Given the description of an element on the screen output the (x, y) to click on. 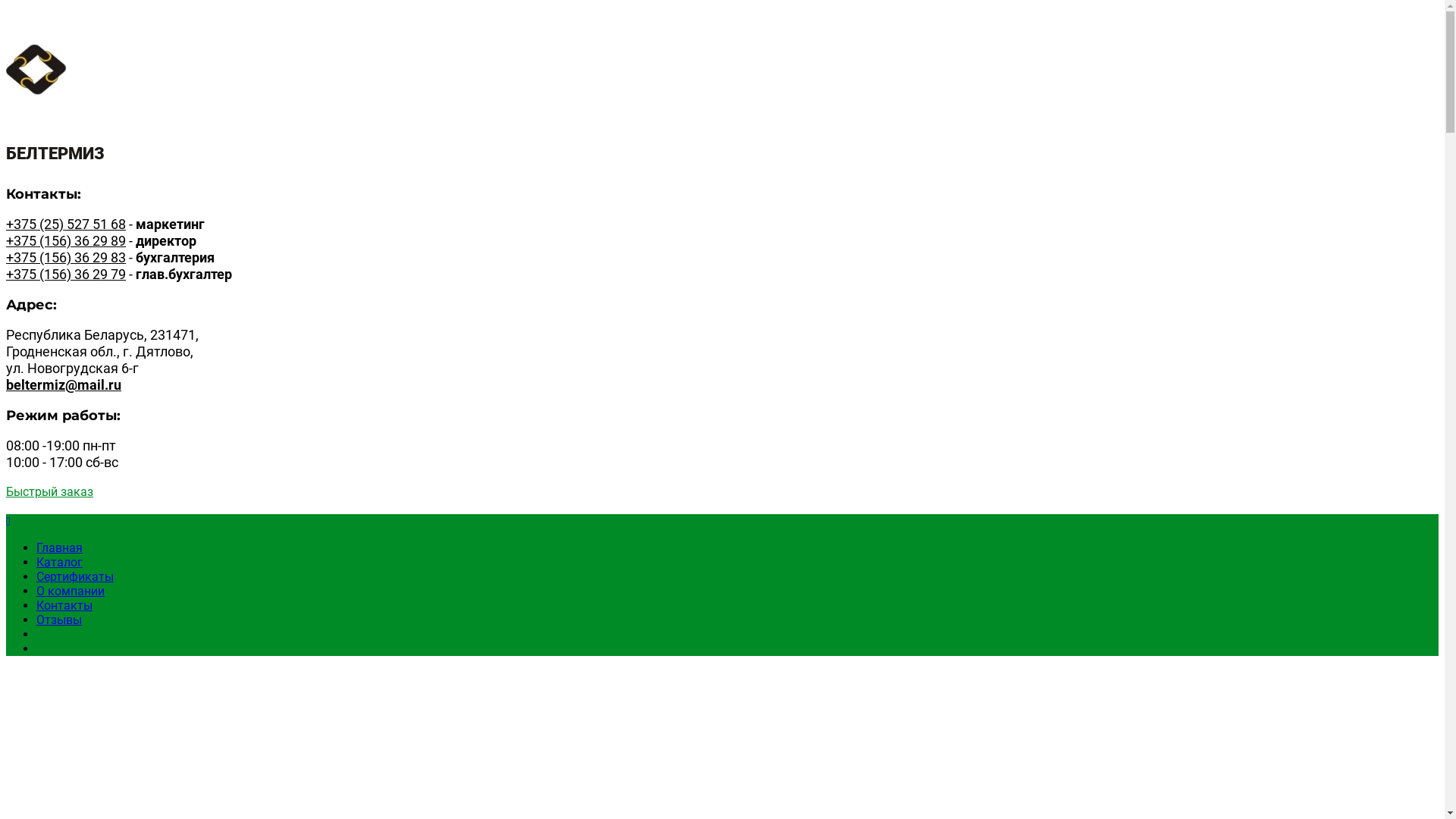
+375 (156) 36 29 79 Element type: text (65, 274)
+375 (25) 527 51 68 Element type: text (65, 224)
+375 (156) 36 29 83 Element type: text (65, 257)
+375 (156) 36 29 89 Element type: text (65, 240)
beltermiz@mail.ru Element type: text (63, 384)
